Given the description of an element on the screen output the (x, y) to click on. 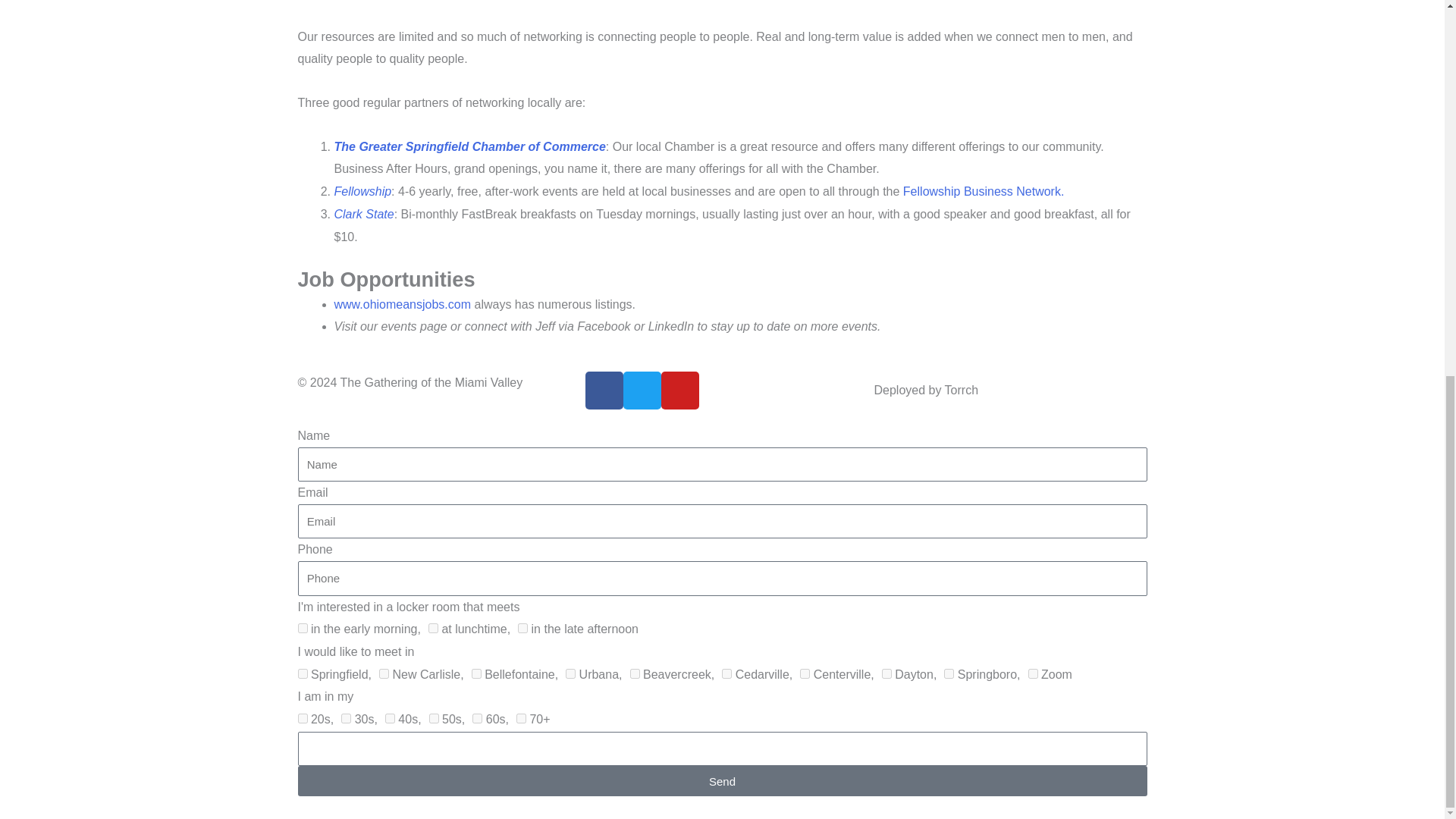
Deployed by Torrch (925, 390)
Fellowship Business Network. (983, 191)
Dayton,  (886, 673)
20s,  (302, 718)
at lunchtime,  (433, 628)
Youtube (679, 390)
Centerville,  (804, 673)
50s,  (434, 718)
in the late afternoon (522, 628)
30s,  (345, 718)
